Given the description of an element on the screen output the (x, y) to click on. 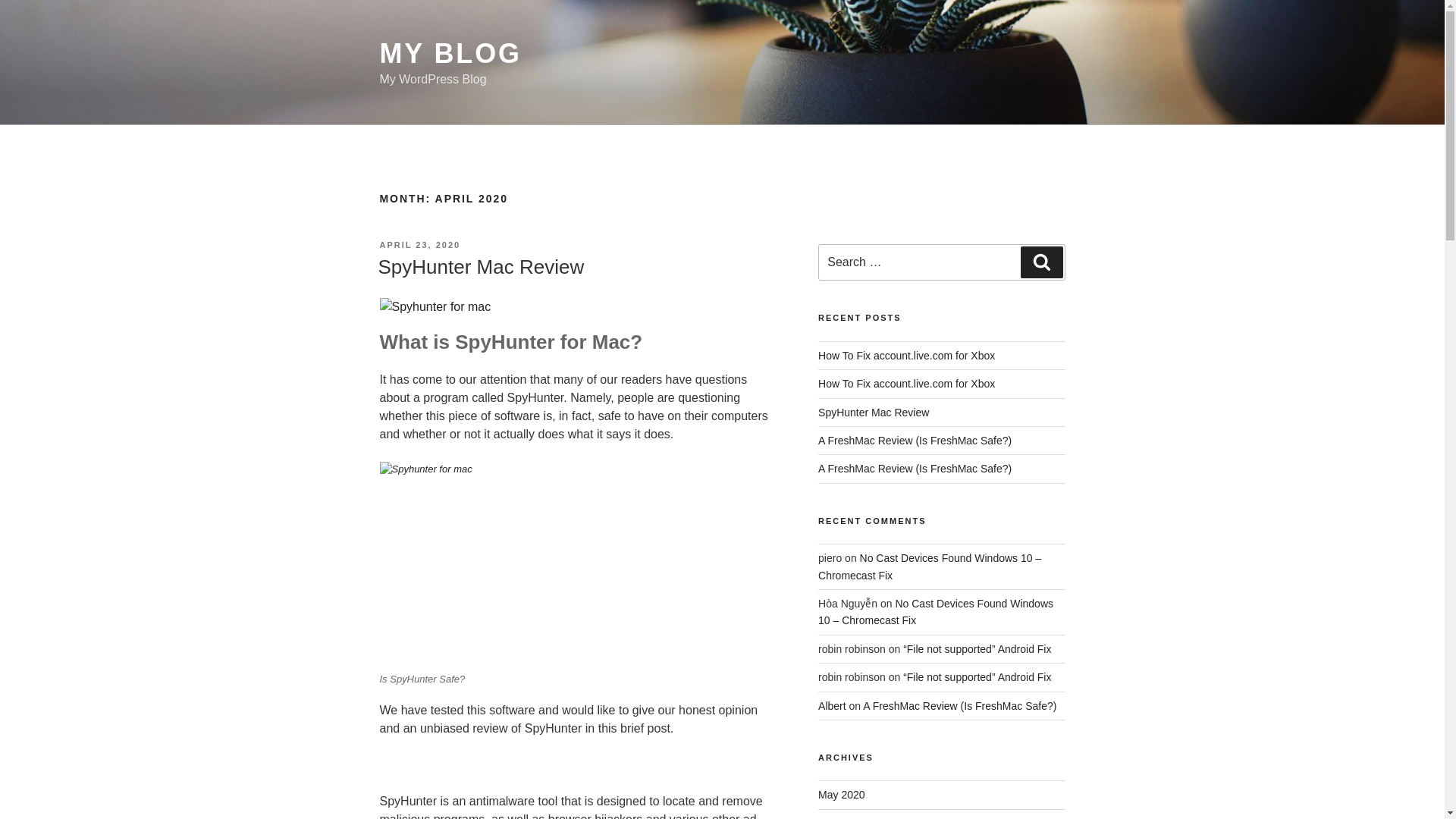
SpyHunter Mac Review (480, 266)
SpyHunter Mac Review (873, 412)
How To Fix account.live.com for Xbox (906, 355)
Albert (831, 705)
May 2020 (841, 794)
Spyhunter for Mac (577, 562)
Search (1041, 262)
April 2020 (842, 818)
MY BLOG (449, 52)
How To Fix account.live.com for Xbox (906, 383)
